Given the description of an element on the screen output the (x, y) to click on. 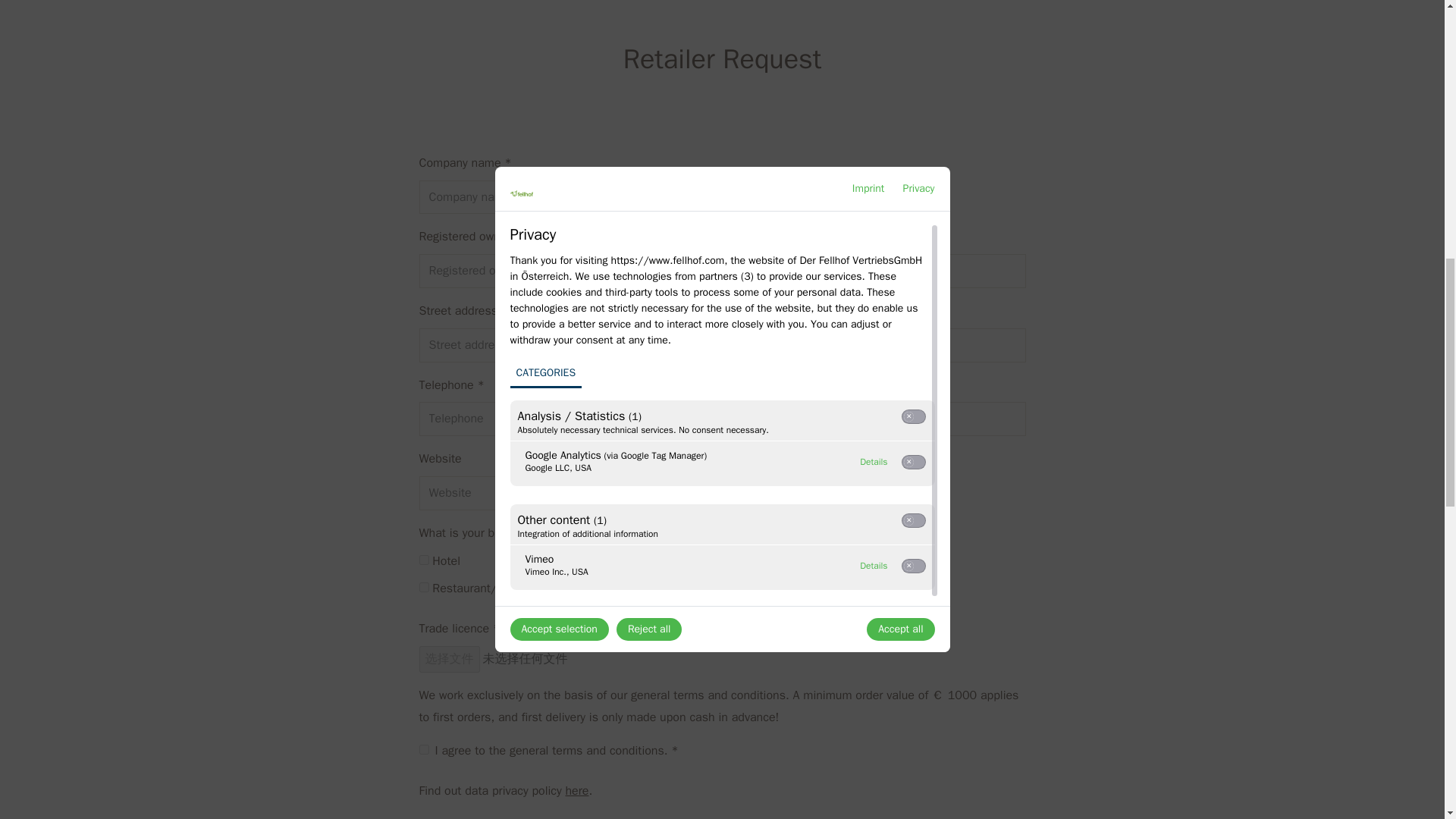
hotel (423, 560)
1 (423, 749)
restaurantGasthaus (423, 587)
